Given the description of an element on the screen output the (x, y) to click on. 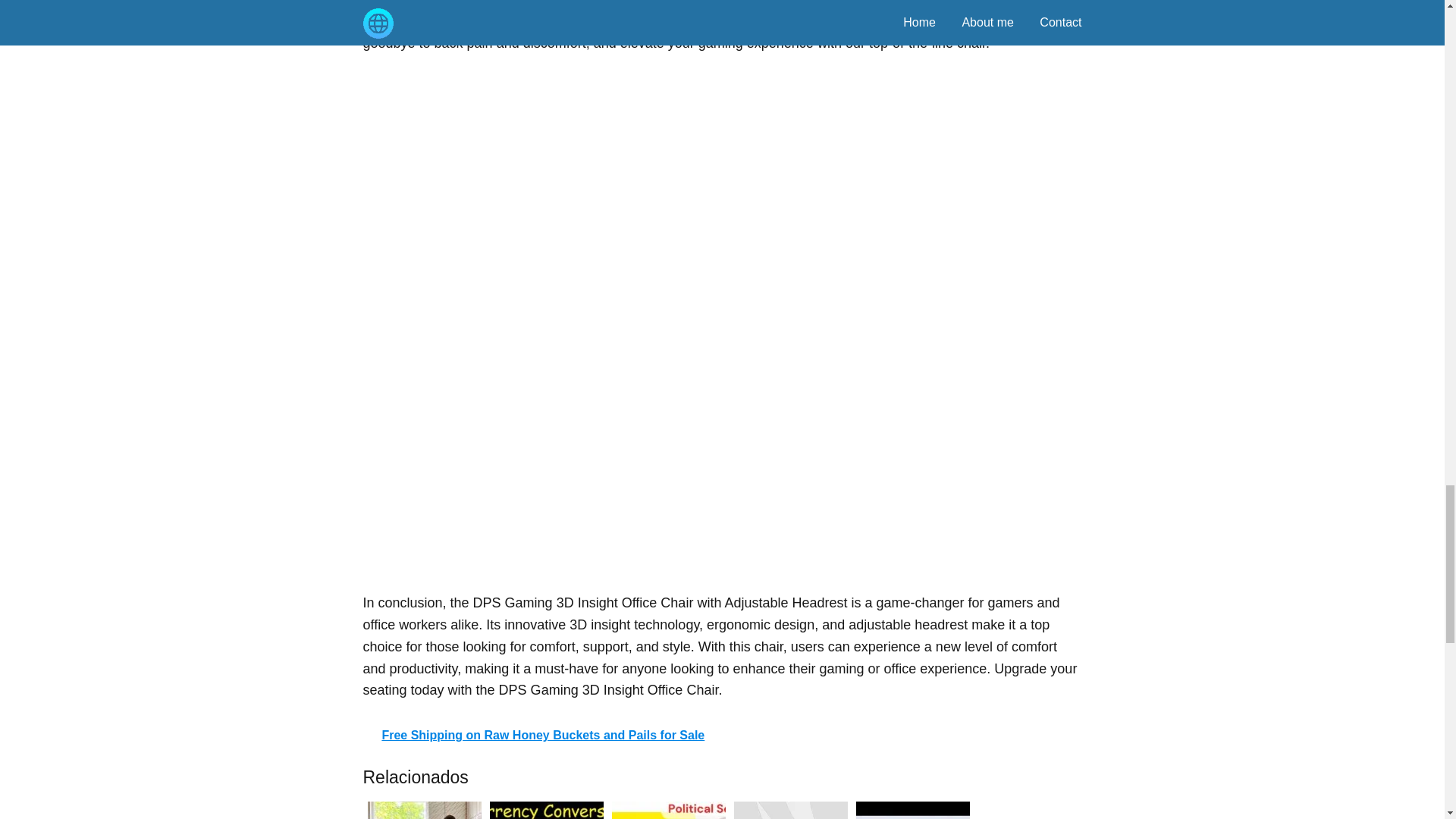
Converting 2000 Pesos to US Dollars: A Quick Guide (546, 807)
  Free Shipping on Raw Honey Buckets and Pails for Sale (721, 735)
B.tan Glow Your Own Way: Clear Self Tan Gel Reviews (790, 807)
